Given the description of an element on the screen output the (x, y) to click on. 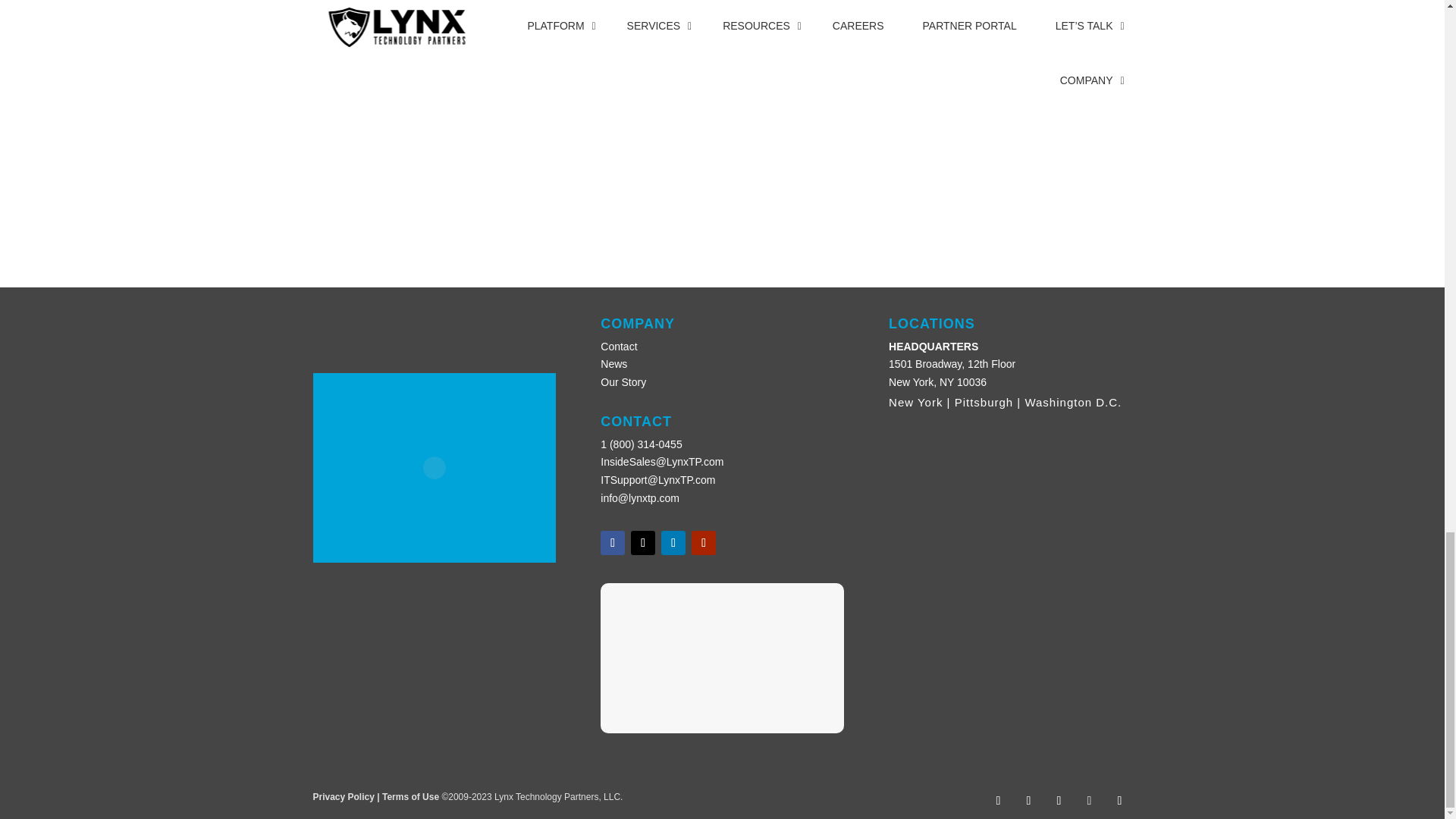
Follow on Facebook (611, 542)
Follow on X (1028, 800)
Follow on LinkedIn (673, 542)
awards (1000, 549)
Follow on LinkedIn (1058, 800)
Follow on Youtube (703, 542)
Follow on Youtube (1088, 800)
Follow on RSS (1118, 800)
Follow on Facebook (997, 800)
Follow on X (642, 542)
